Given the description of an element on the screen output the (x, y) to click on. 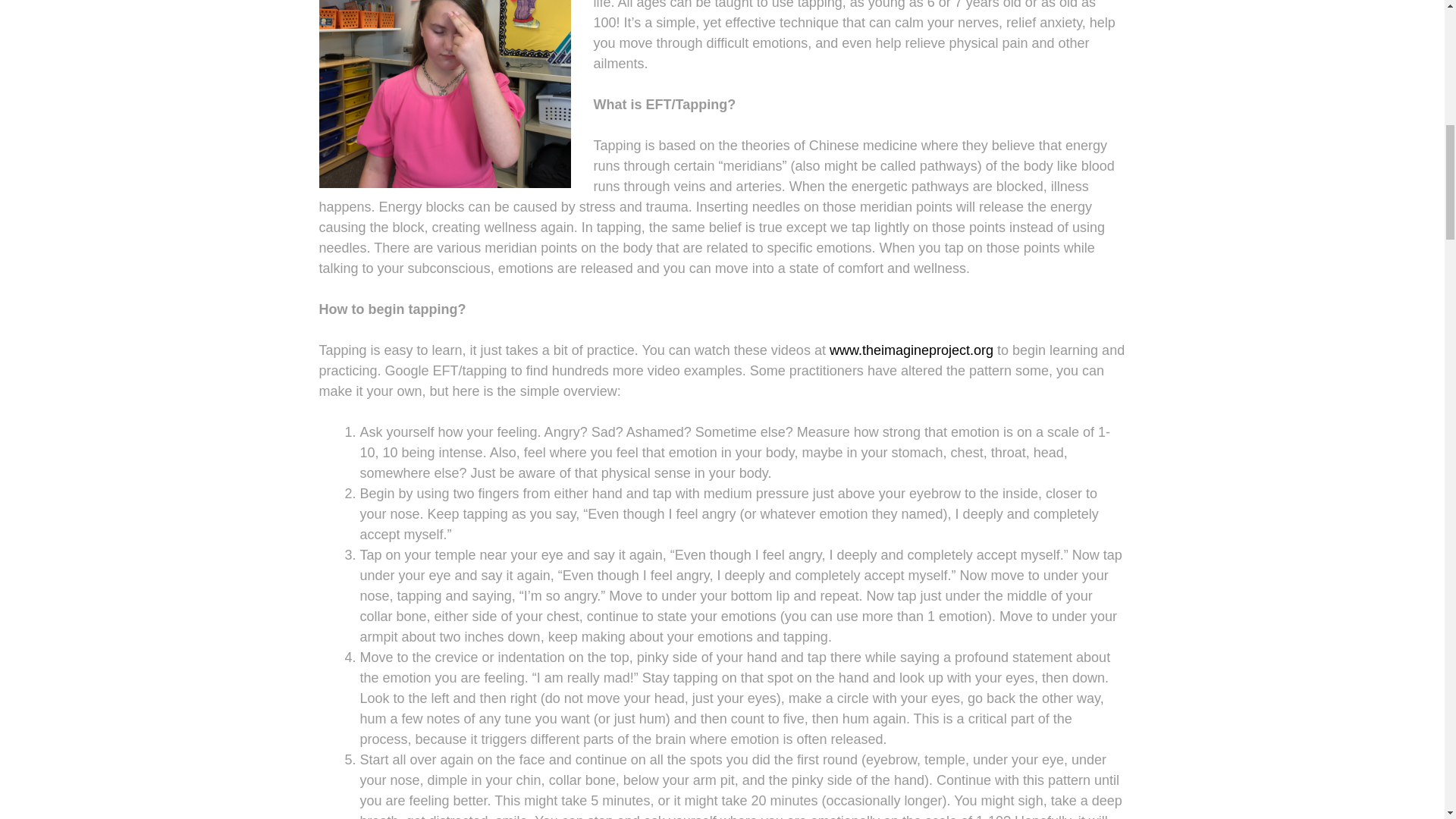
www.theimagineproject.org (910, 350)
